Given the description of an element on the screen output the (x, y) to click on. 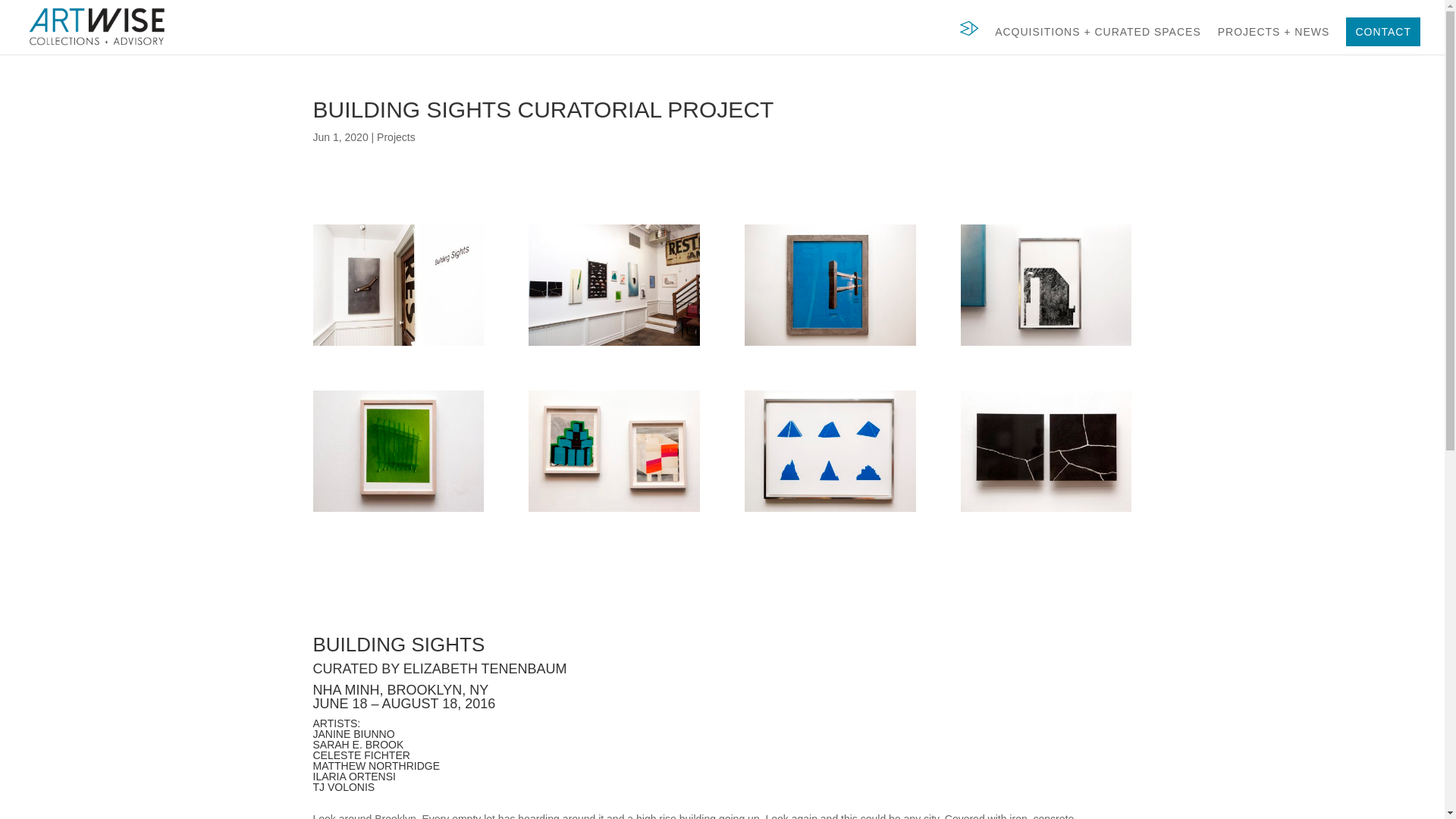
Projects (395, 137)
Building.Sights.21 (829, 345)
Building.Sights.27 (829, 511)
Building.Sights.22 (1045, 345)
Building.Sights.2 (398, 345)
Building.Sights.23 (398, 511)
Building.Sights.24 (613, 511)
CONTACT (1383, 31)
Building.Sights.28 (1045, 511)
Building.Sights.6 (613, 345)
